Given the description of an element on the screen output the (x, y) to click on. 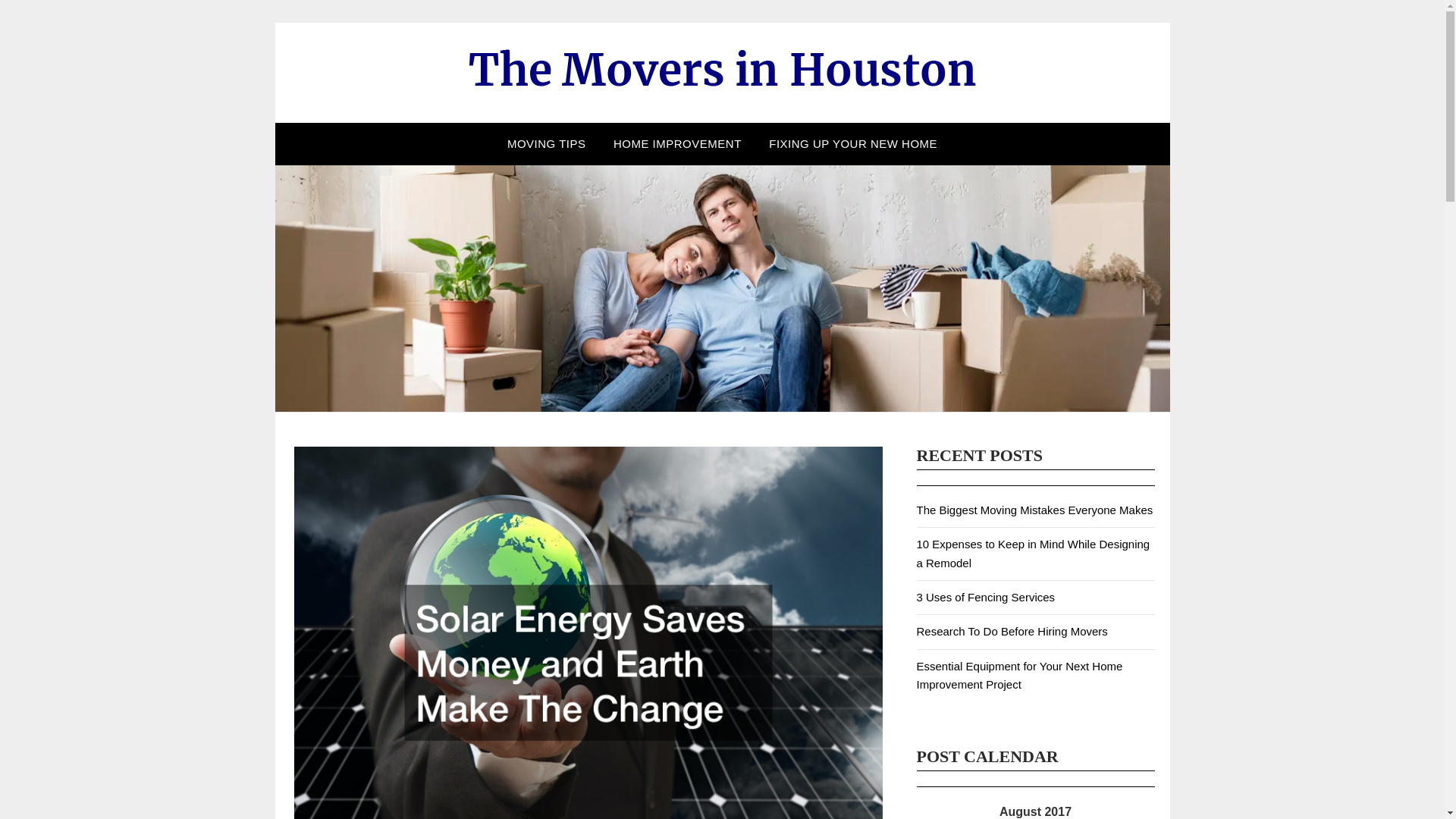
10 Expenses to Keep in Mind While Designing a Remodel (1032, 552)
FIXING UP YOUR NEW HOME (853, 143)
The Biggest Moving Mistakes Everyone Makes (1034, 509)
Research To Do Before Hiring Movers (1010, 631)
3 Uses of Fencing Services (984, 596)
HOME IMPROVEMENT (677, 143)
MOVING TIPS (546, 143)
Essential Equipment for Your Next Home Improvement Project (1018, 675)
